Given the description of an element on the screen output the (x, y) to click on. 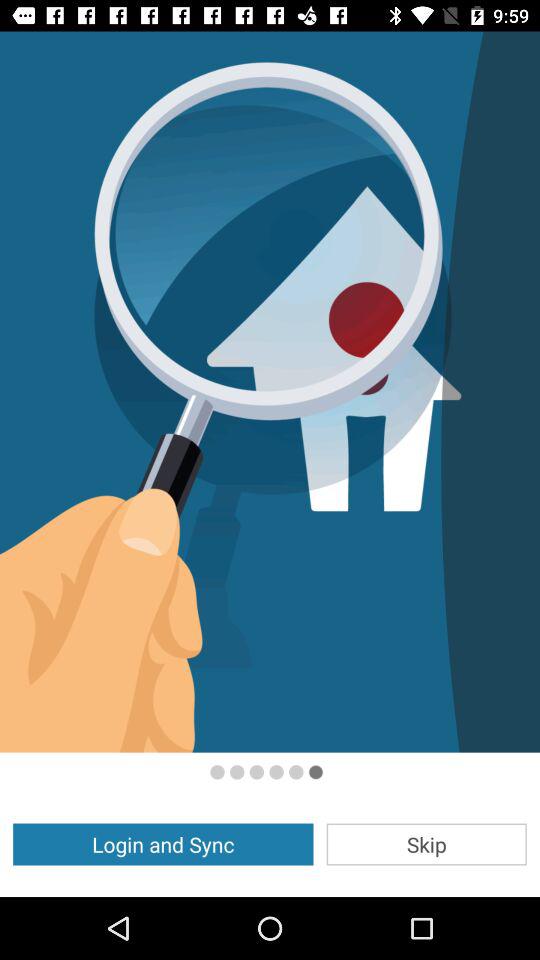
jump until skip item (426, 844)
